Given the description of an element on the screen output the (x, y) to click on. 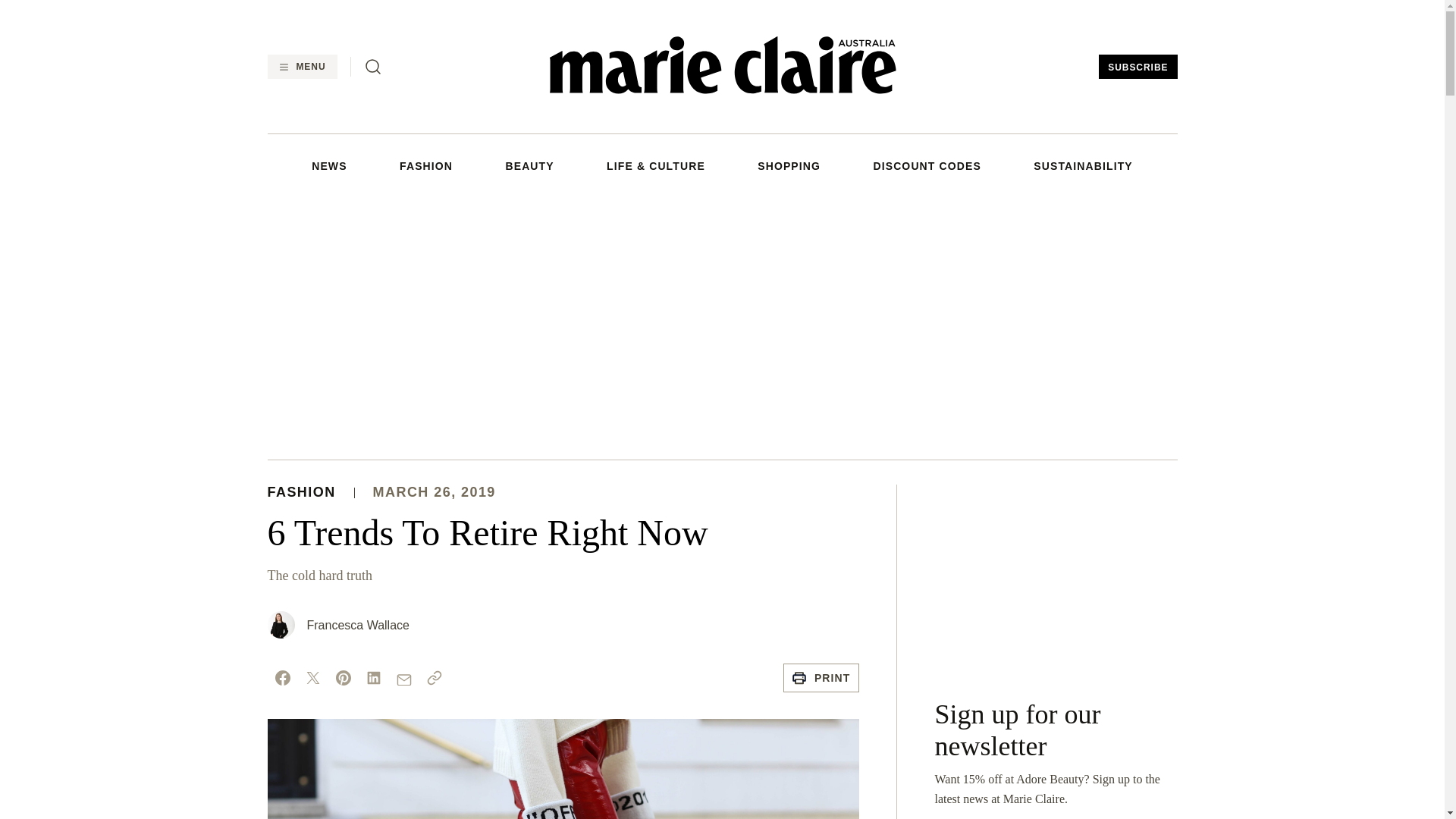
3rd party ad content (1055, 579)
BEAUTY (529, 165)
DISCOUNT CODES (925, 165)
SHOPPING (789, 165)
NEWS (328, 165)
FASHION (425, 165)
SUBSCRIBE (1137, 66)
SUSTAINABILITY (1082, 165)
MENU (301, 66)
